Given the description of an element on the screen output the (x, y) to click on. 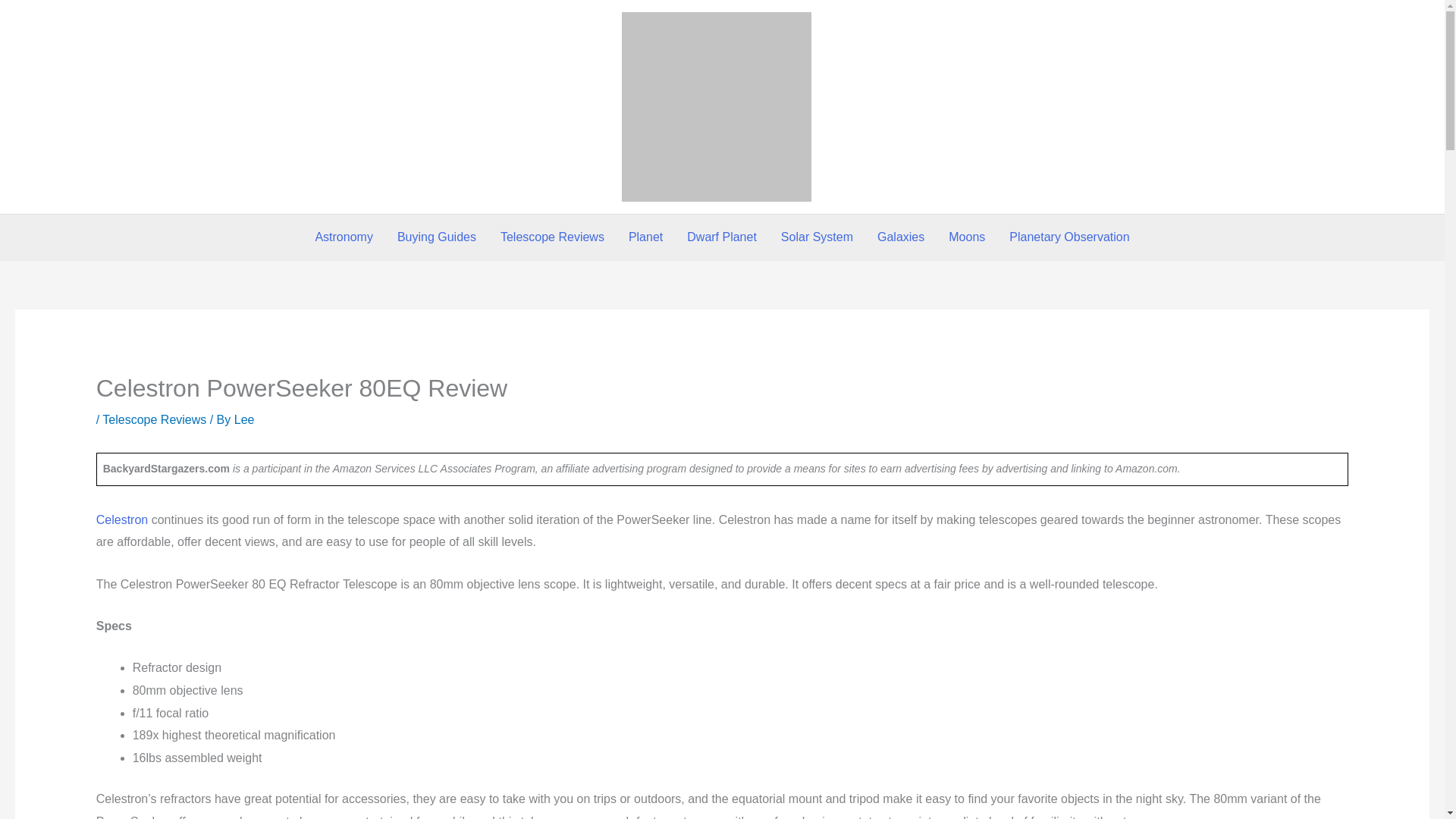
View all posts by Lee (244, 419)
Dwarf Planet (721, 237)
Astronomy (343, 237)
Moons (966, 237)
Telescope Reviews (551, 237)
Celestron (122, 519)
Solar System (816, 237)
Lee (244, 419)
Planetary Observation (1069, 237)
Planet (645, 237)
